Given the description of an element on the screen output the (x, y) to click on. 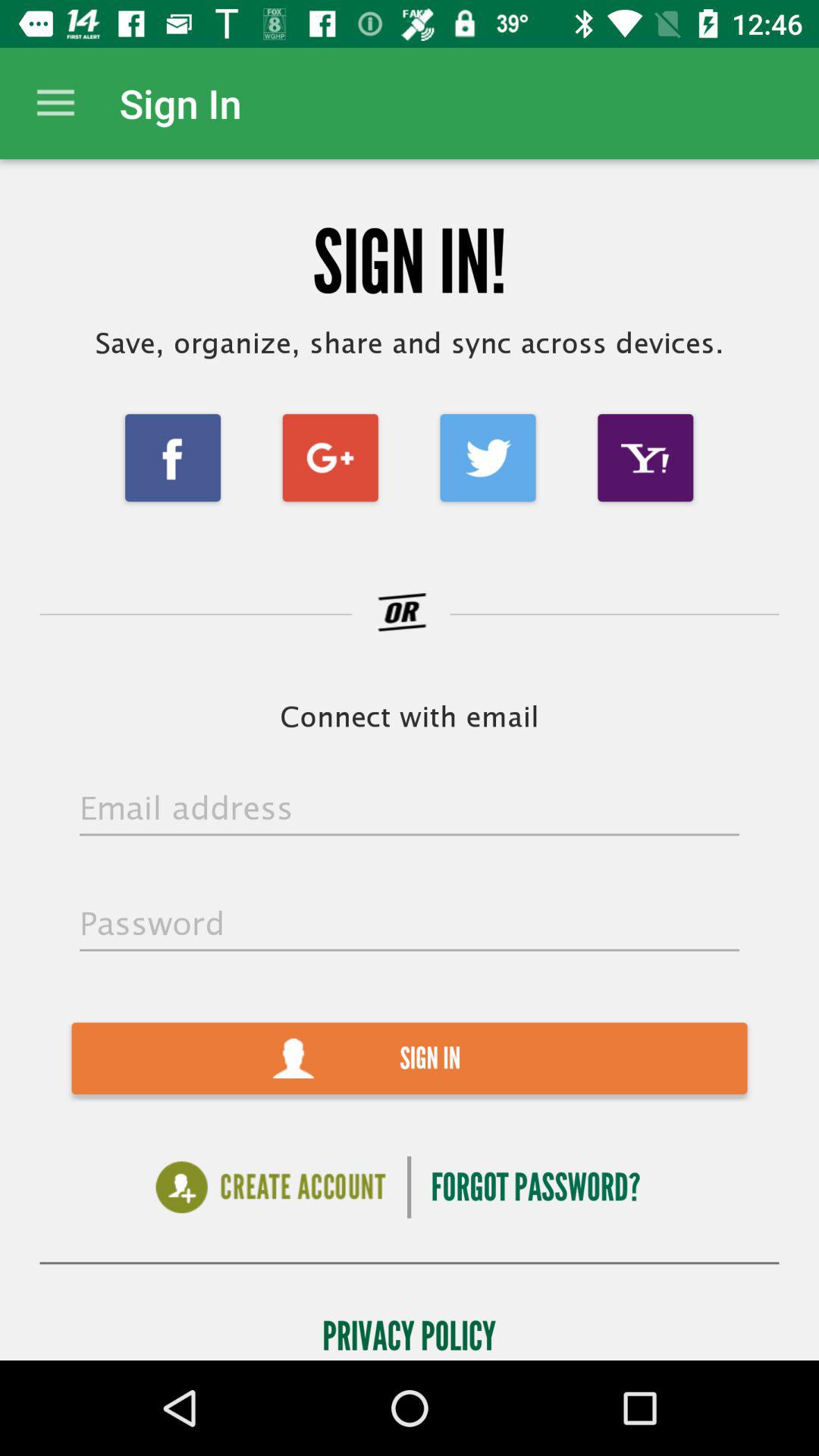
launch the item below the connect with email item (409, 809)
